Given the description of an element on the screen output the (x, y) to click on. 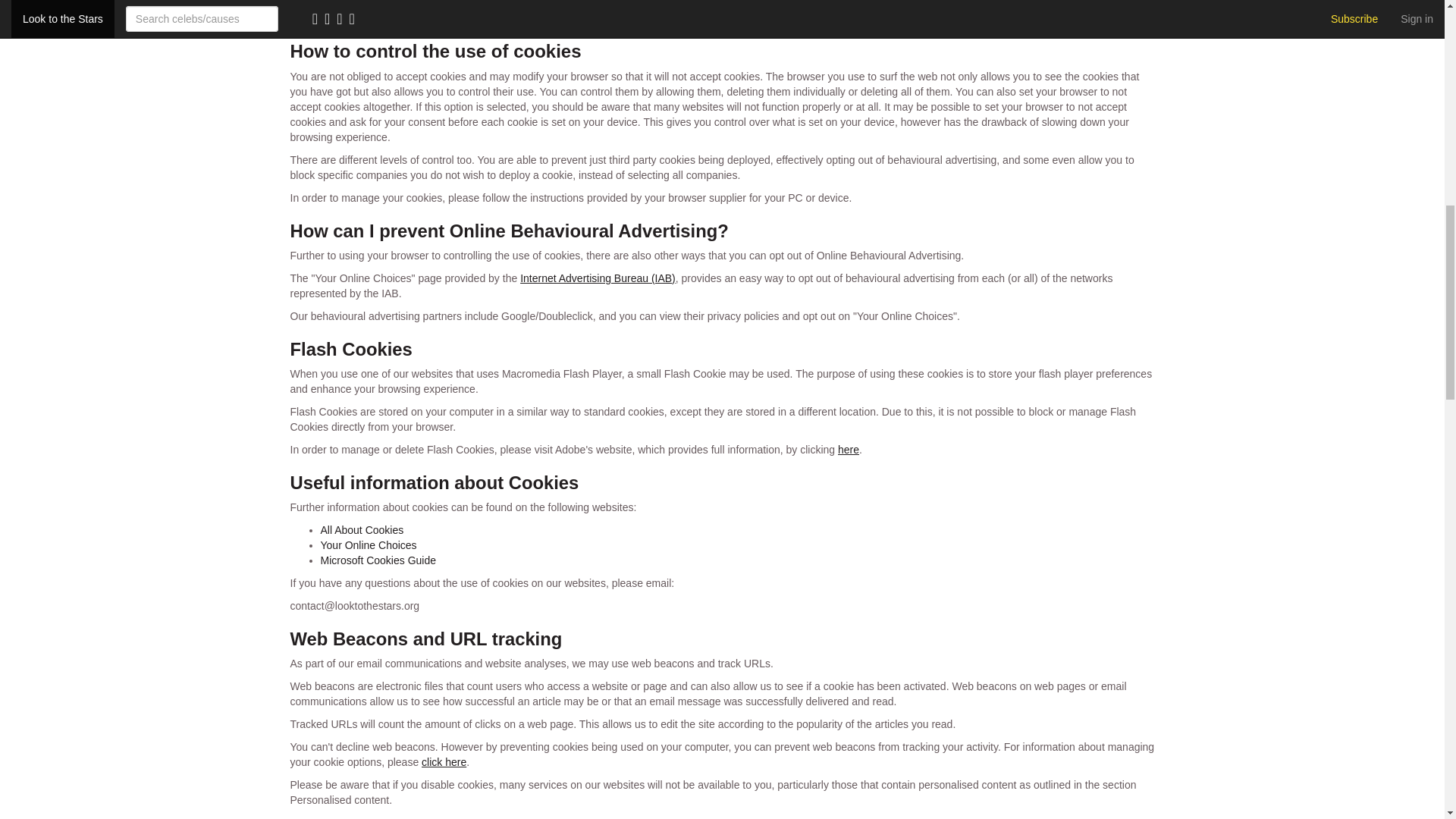
click here (443, 761)
Microsoft Cookies Guide (377, 560)
here (848, 449)
Your Online Choices (368, 544)
All About Cookies (361, 530)
